Given the description of an element on the screen output the (x, y) to click on. 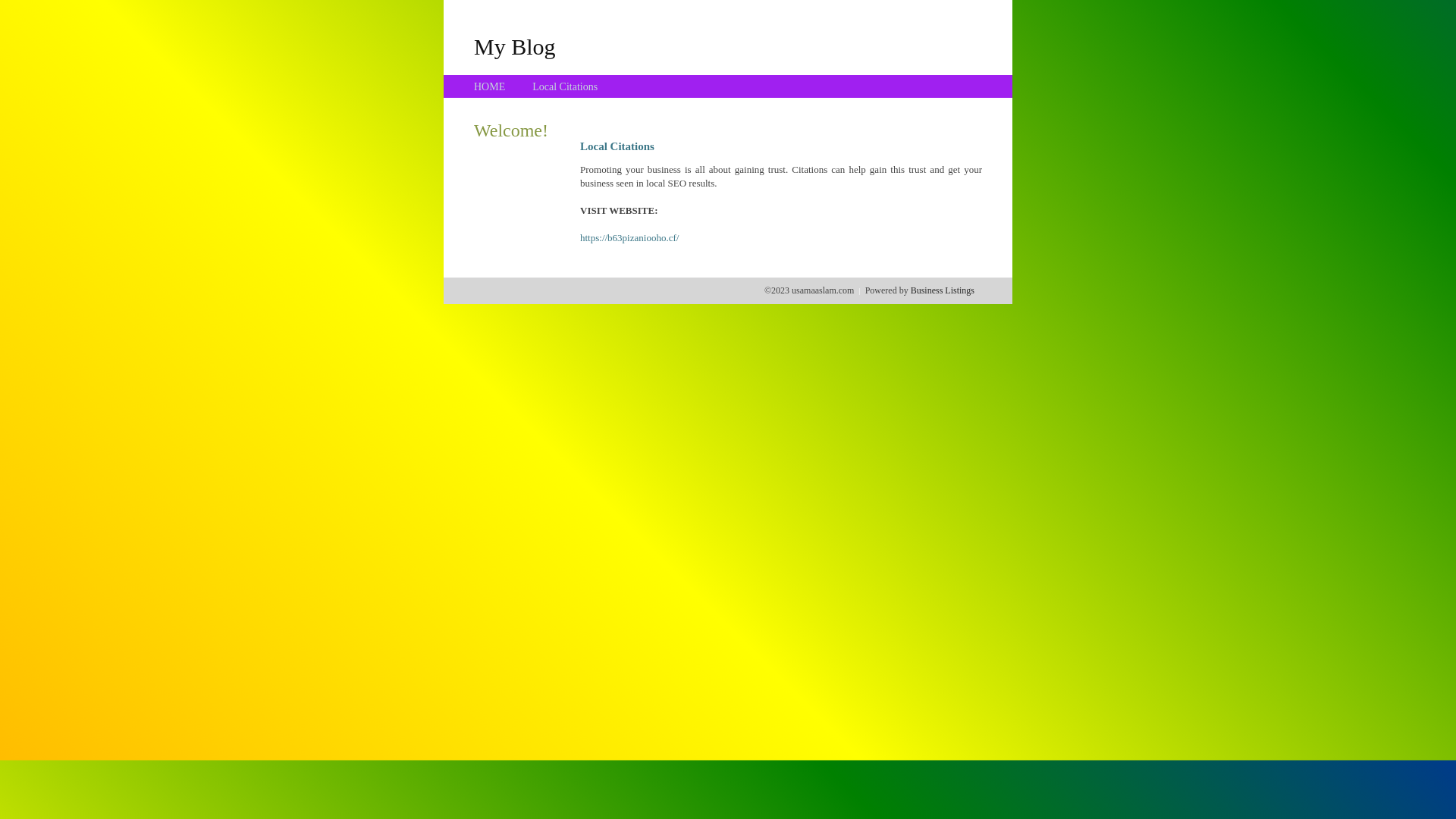
Business Listings Element type: text (942, 290)
My Blog Element type: text (514, 46)
HOME Element type: text (489, 86)
Local Citations Element type: text (564, 86)
https://b63pizaniooho.cf/ Element type: text (629, 237)
